Given the description of an element on the screen output the (x, y) to click on. 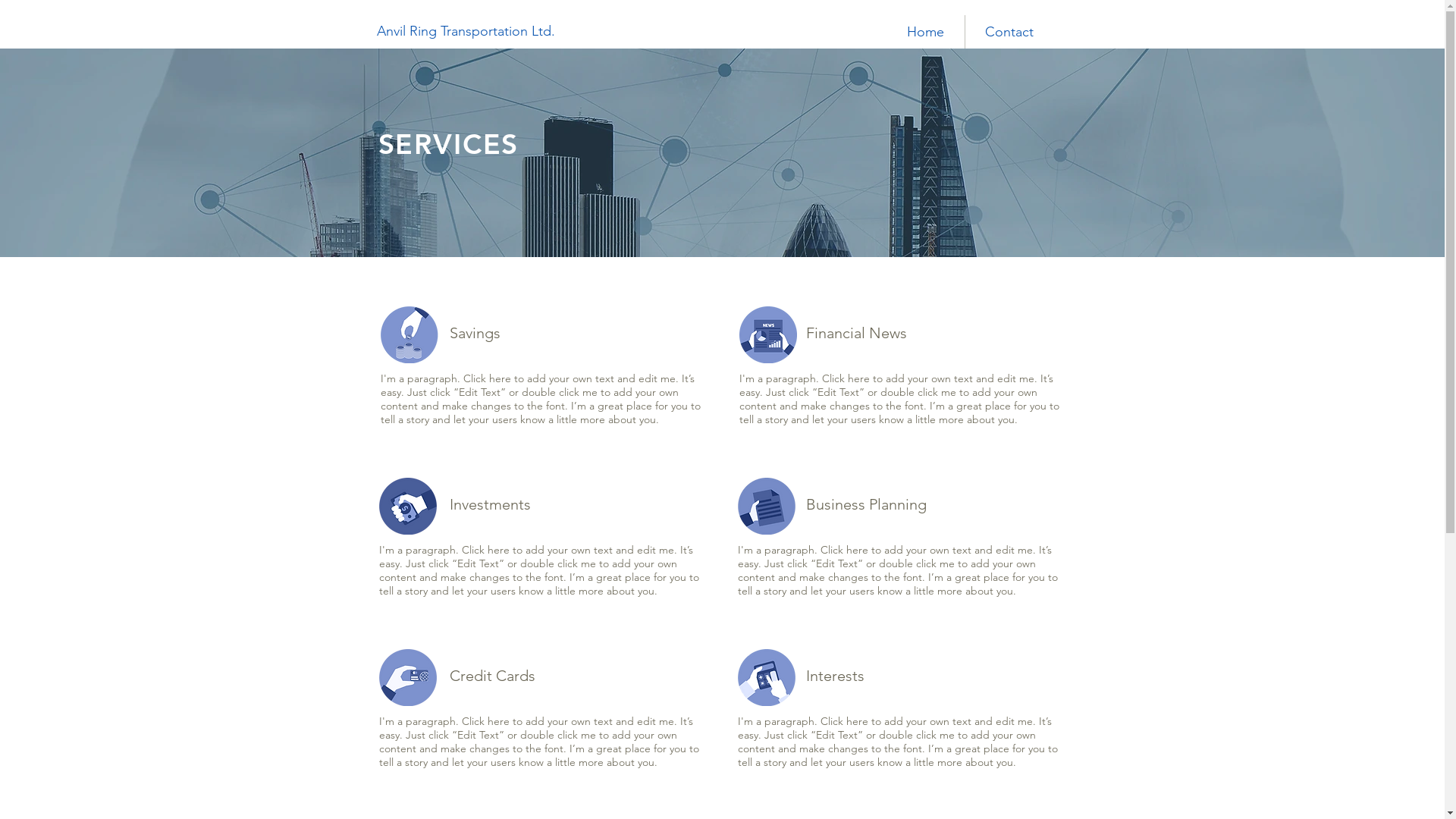
Home Element type: text (924, 31)
Contact Element type: text (1008, 31)
Anvil Ring Transportation Ltd. Element type: text (465, 31)
